Given the description of an element on the screen output the (x, y) to click on. 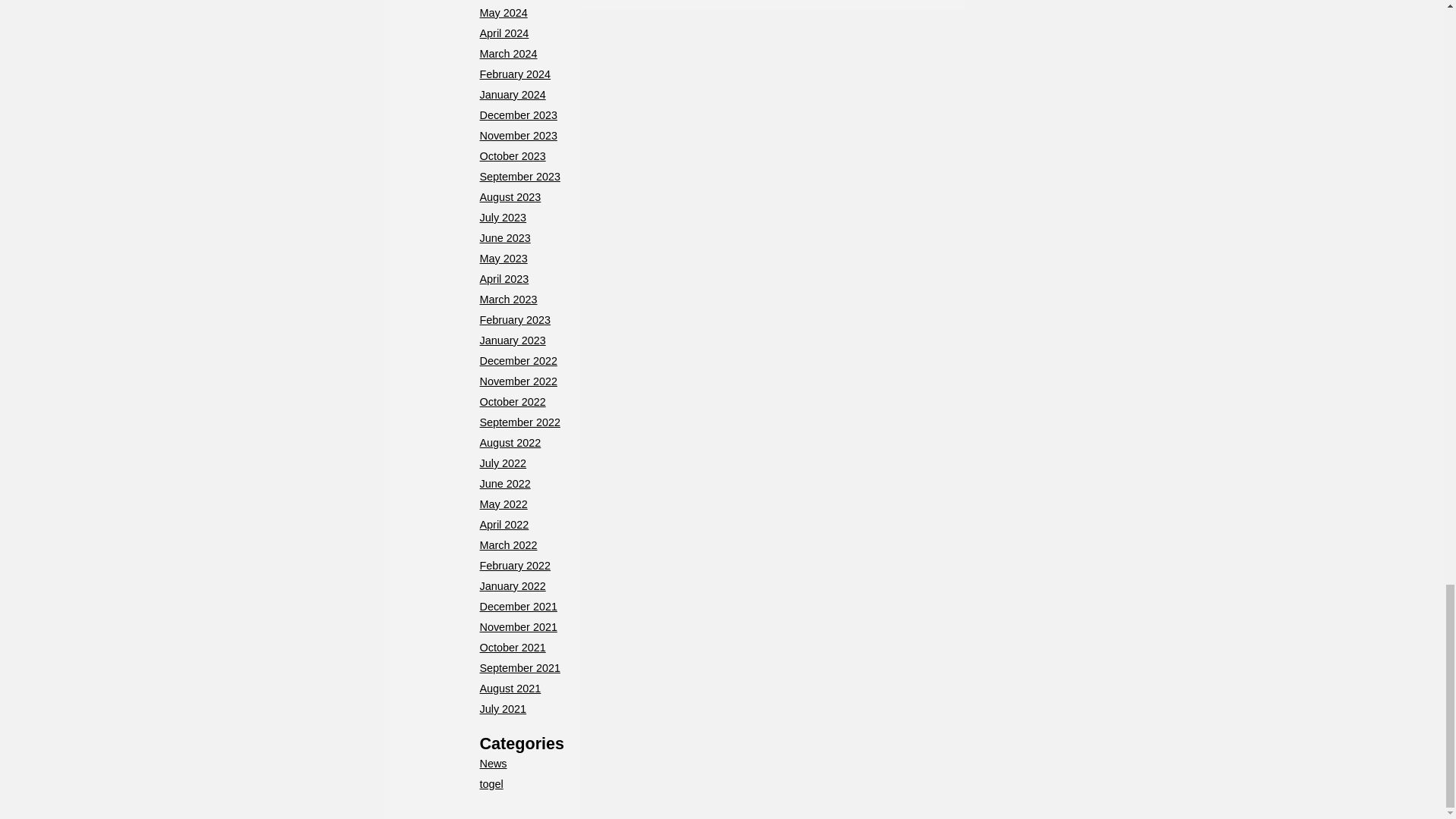
May 2024 (503, 12)
March 2024 (508, 53)
July 2023 (502, 217)
May 2022 (503, 503)
April 2024 (503, 33)
January 2024 (511, 94)
August 2023 (509, 196)
September 2022 (519, 422)
June 2023 (504, 237)
December 2023 (517, 114)
